Given the description of an element on the screen output the (x, y) to click on. 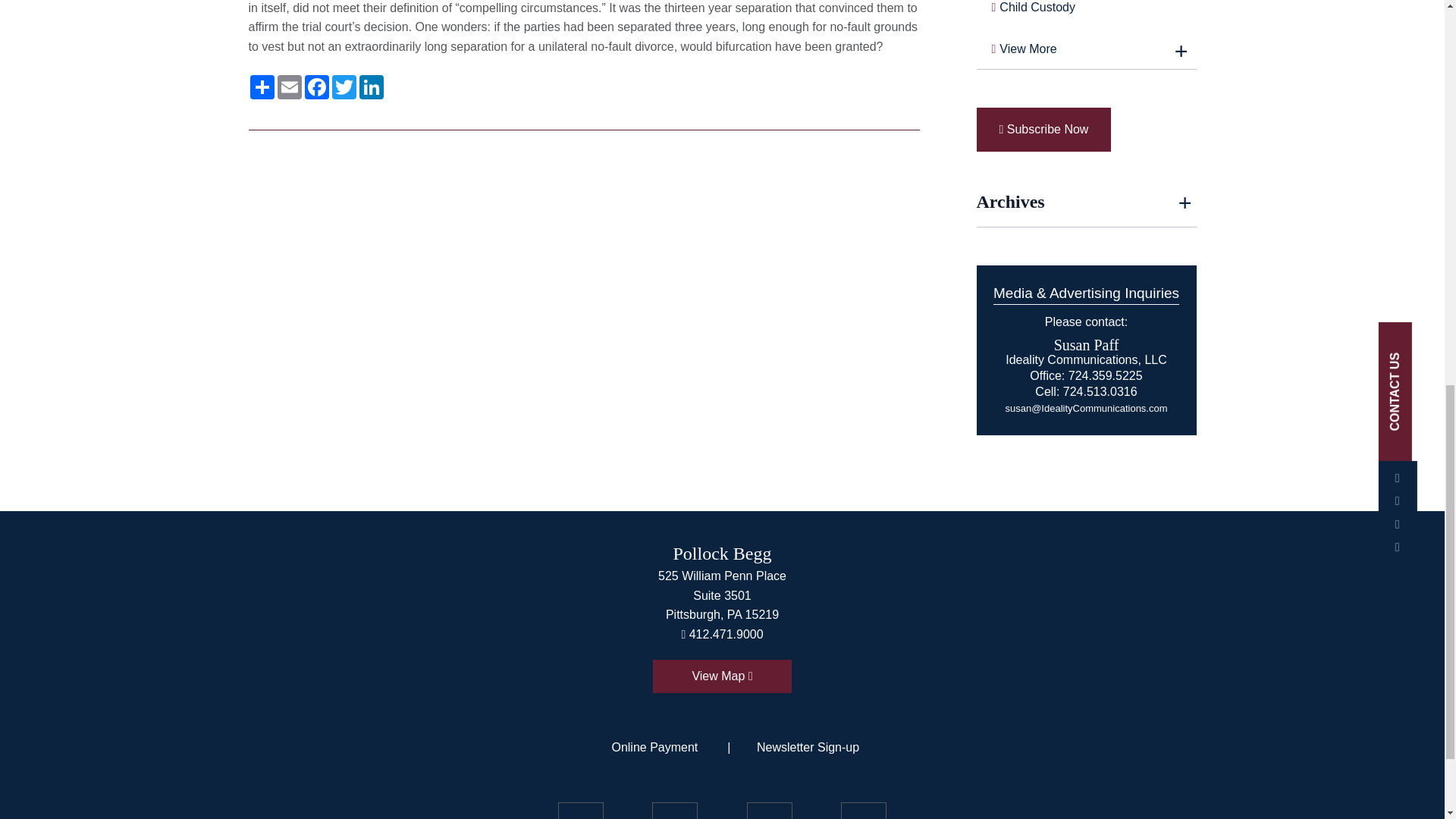
Email (289, 87)
Share (262, 87)
Facebook (316, 87)
Twitter (344, 87)
